Given the description of an element on the screen output the (x, y) to click on. 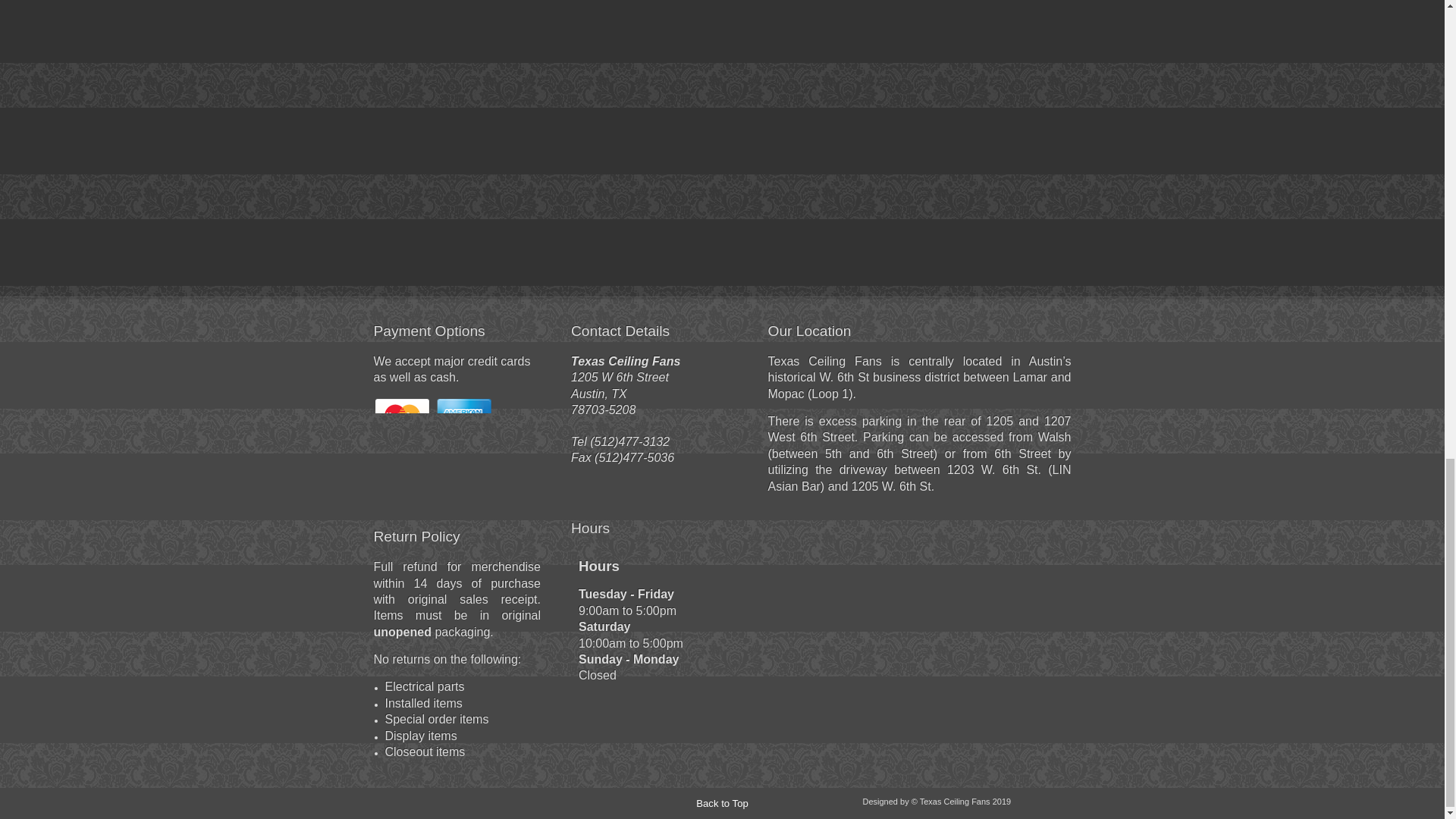
Back to Top (721, 803)
